Given the description of an element on the screen output the (x, y) to click on. 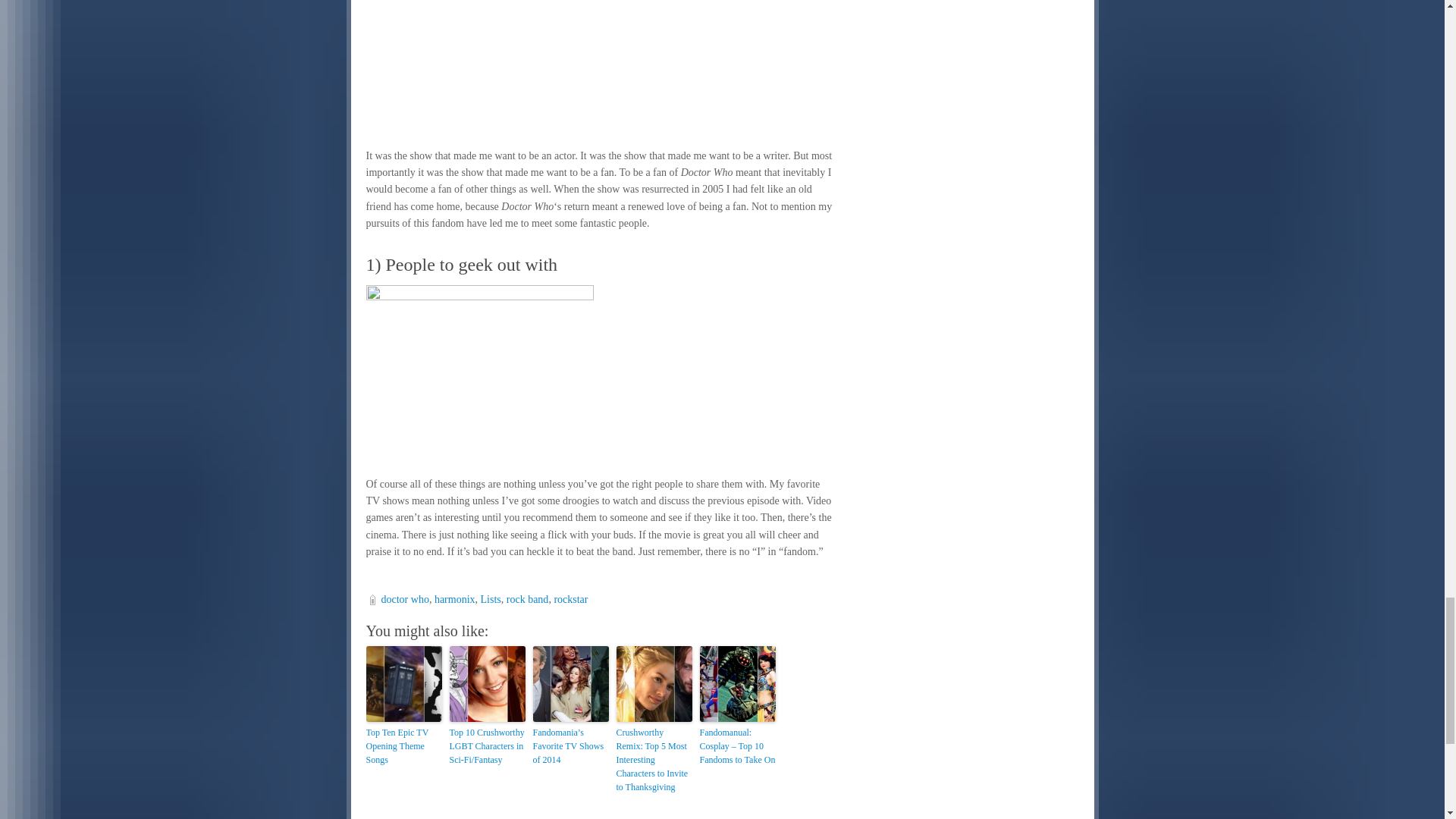
rock band (527, 599)
doctor who (404, 599)
Lists (490, 599)
rockstar (570, 599)
harmonix (454, 599)
